Given the description of an element on the screen output the (x, y) to click on. 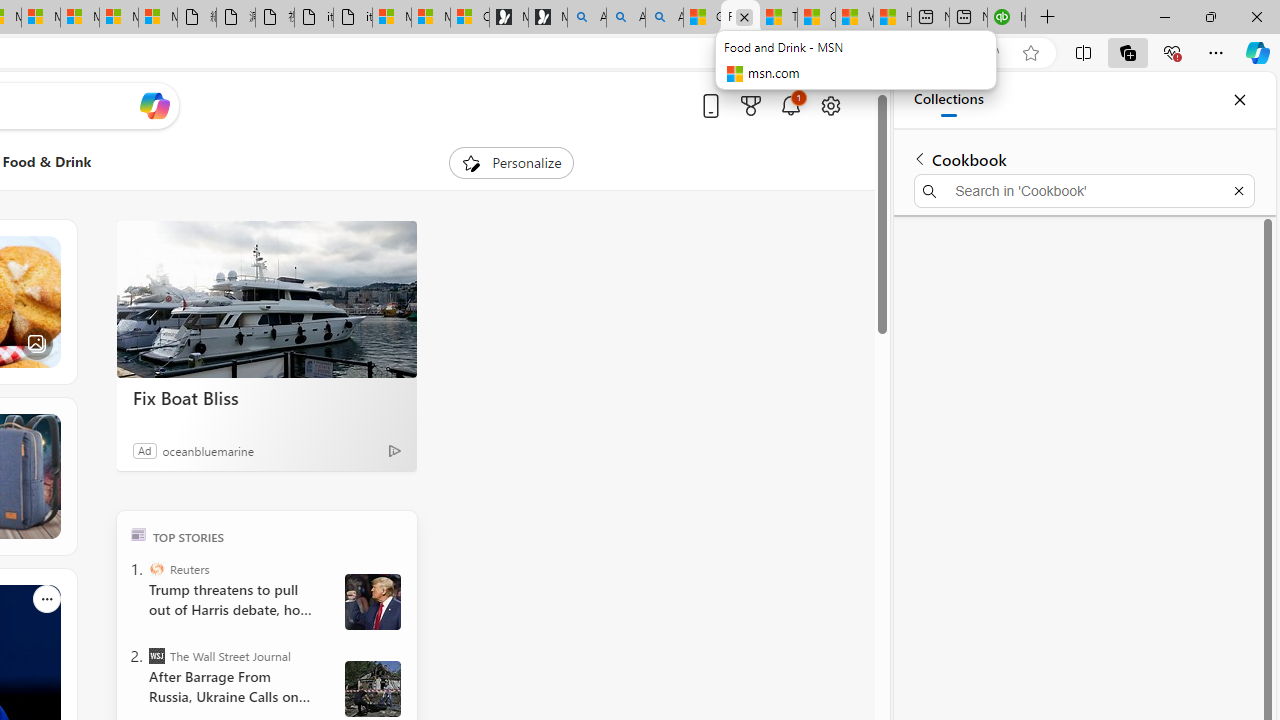
TOP (138, 534)
Fix Boat Bliss (266, 299)
How to Use a TV as a Computer Monitor (892, 17)
Alabama high school quarterback dies - Search (586, 17)
Reuters (156, 568)
Exit search (1238, 190)
